Given the description of an element on the screen output the (x, y) to click on. 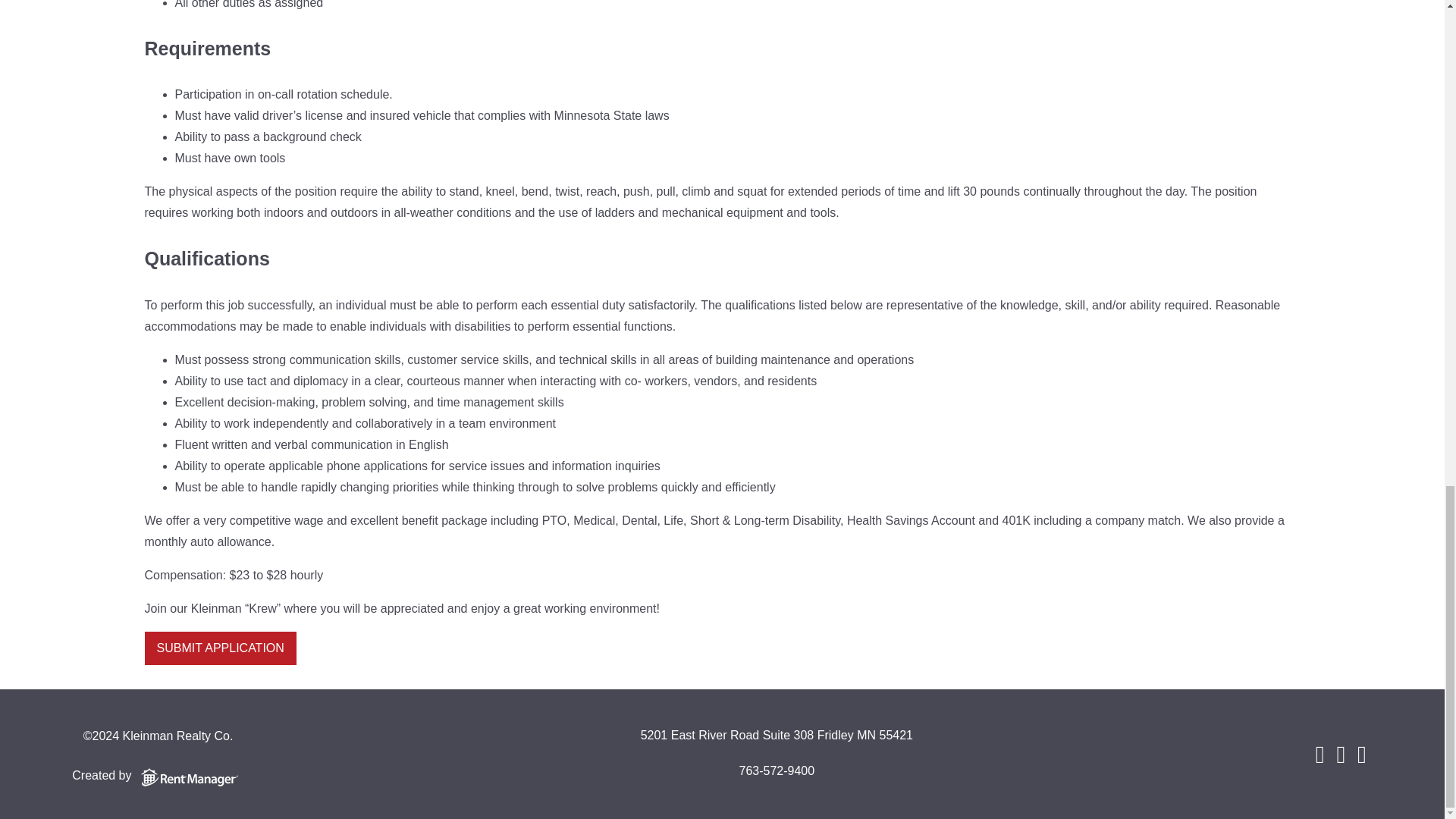
763-572-9400 (775, 771)
Created by  (157, 775)
SUBMIT APPLICATION (219, 648)
5201 East River Road Suite 308 Fridley MN 55421 (776, 736)
